Given the description of an element on the screen output the (x, y) to click on. 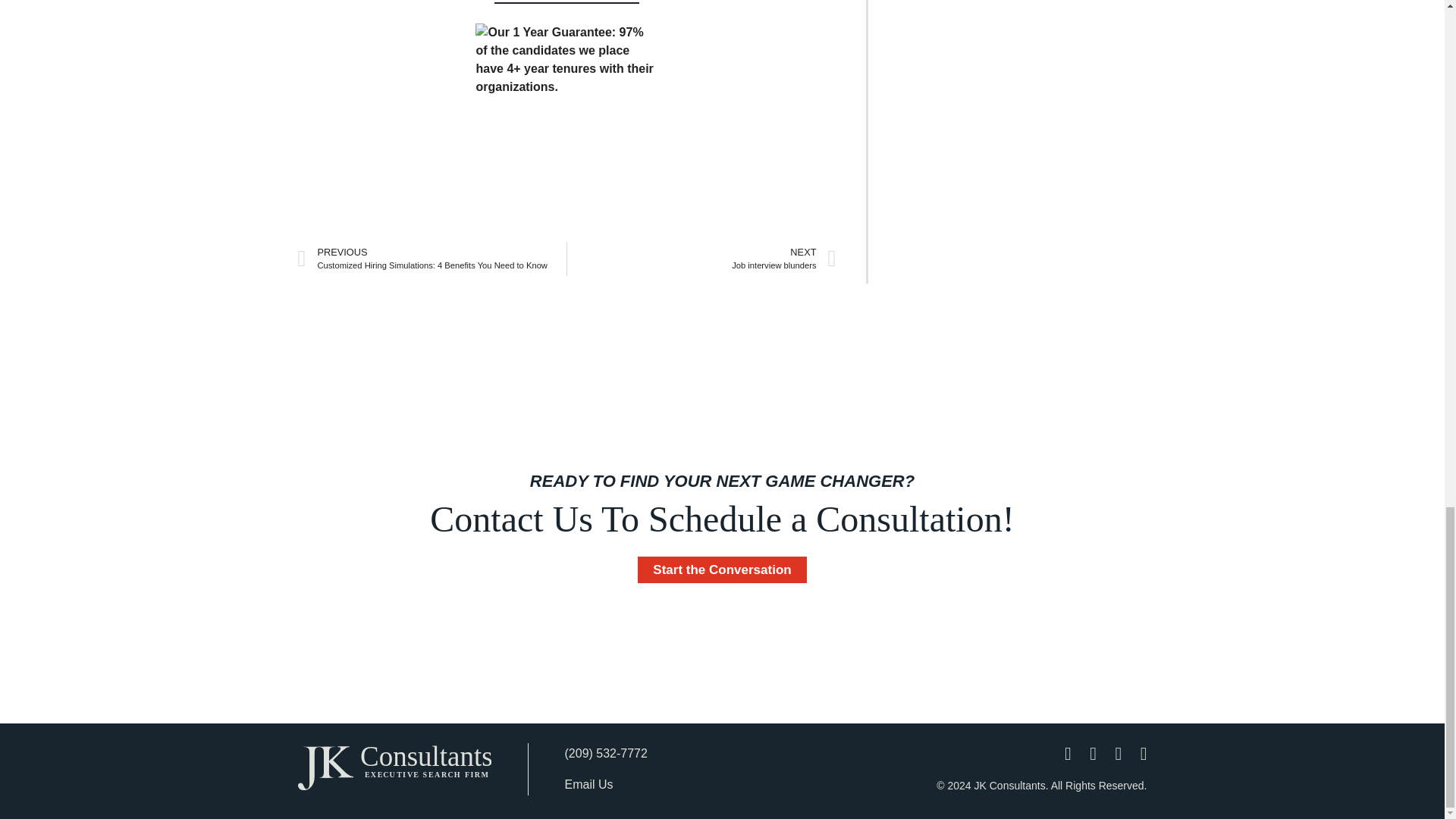
www.JKConsultants.com (567, 1)
